Given the description of an element on the screen output the (x, y) to click on. 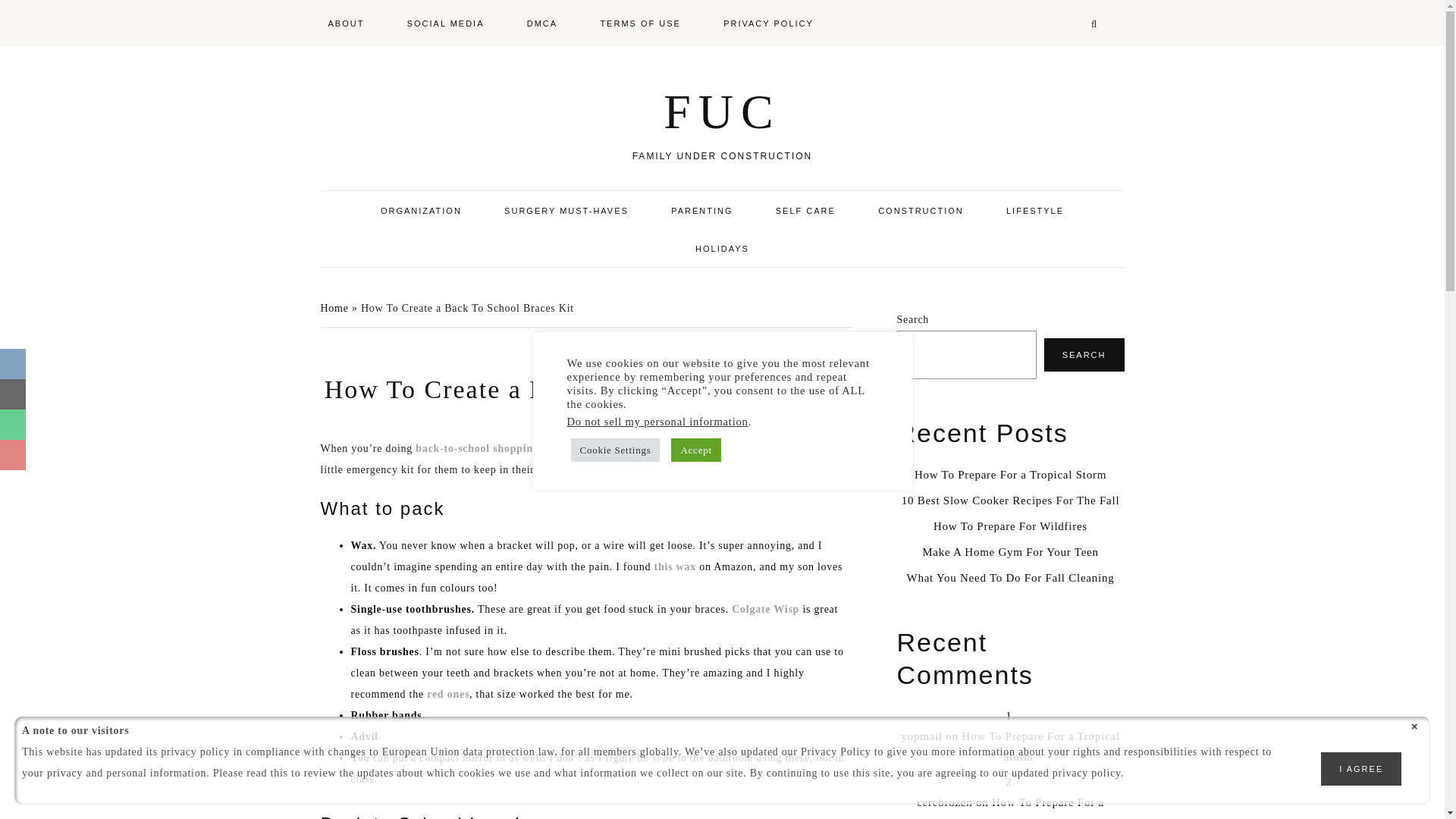
this wax (674, 566)
SEARCH (1083, 354)
LIFESTYLE (1035, 209)
How To Prepare For a Tropical Storm (1010, 474)
Make A Home Gym For Your Teen (1010, 551)
SELF CARE (805, 209)
Home (333, 307)
ORGANIZATION (421, 209)
TERMS OF USE (639, 22)
back-to-school shopping (476, 448)
red ones (447, 694)
10 Best Slow Cooker Recipes For The Fall (1010, 500)
How To Prepare For Wildfires (1010, 526)
ABOUT (355, 22)
SURGERY MUST-HAVES (565, 209)
